Given the description of an element on the screen output the (x, y) to click on. 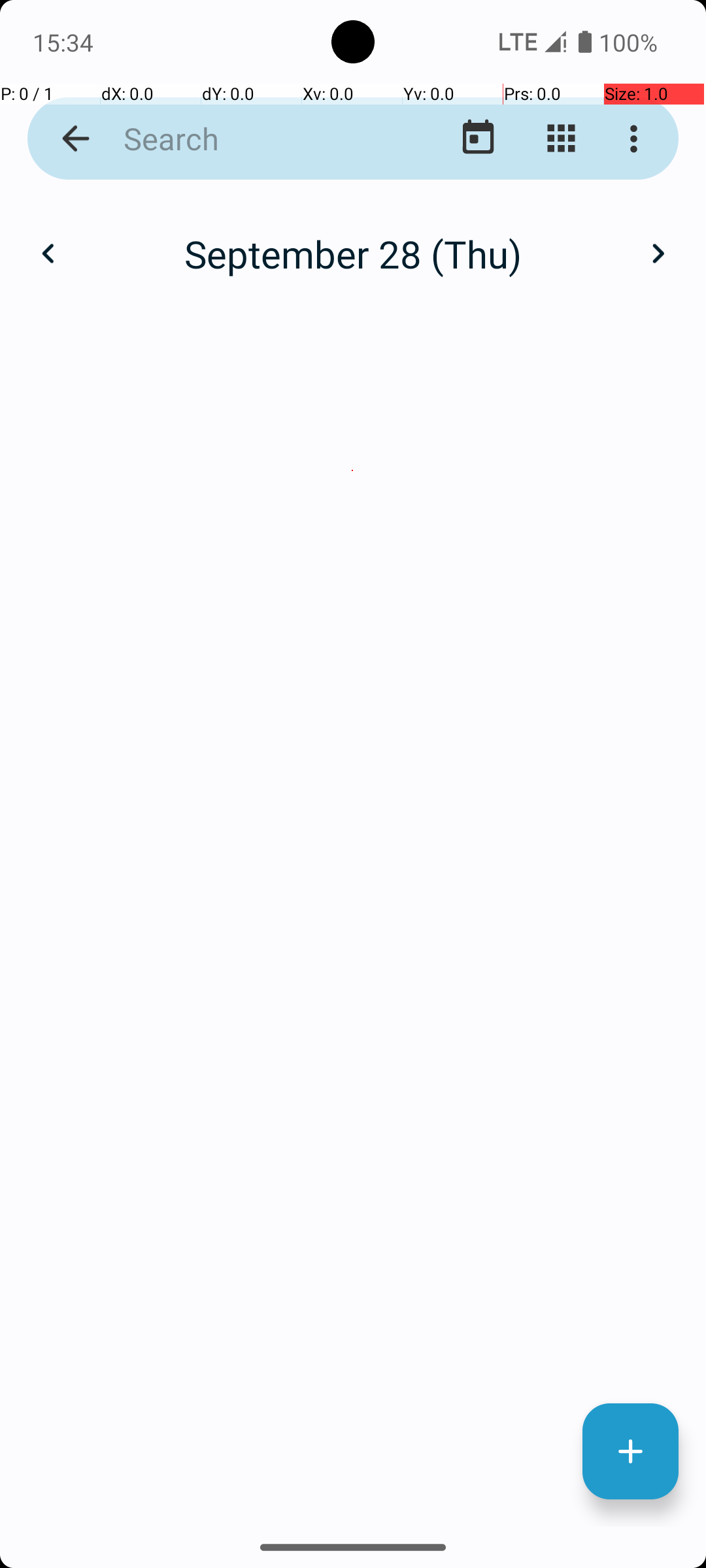
September 28 (Thu) Element type: android.widget.TextView (352, 253)
